Given the description of an element on the screen output the (x, y) to click on. 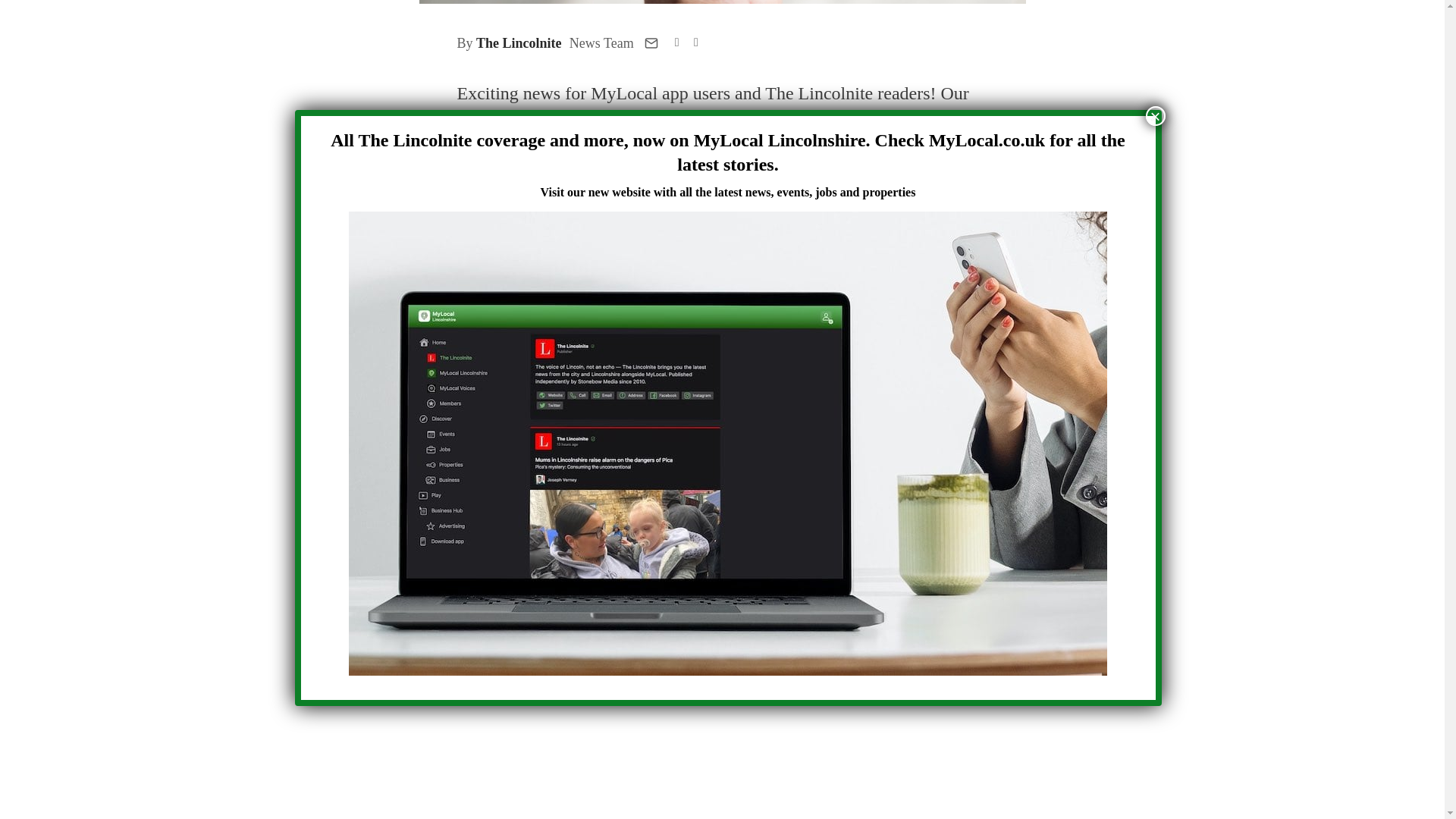
Contact author (651, 42)
